Given the description of an element on the screen output the (x, y) to click on. 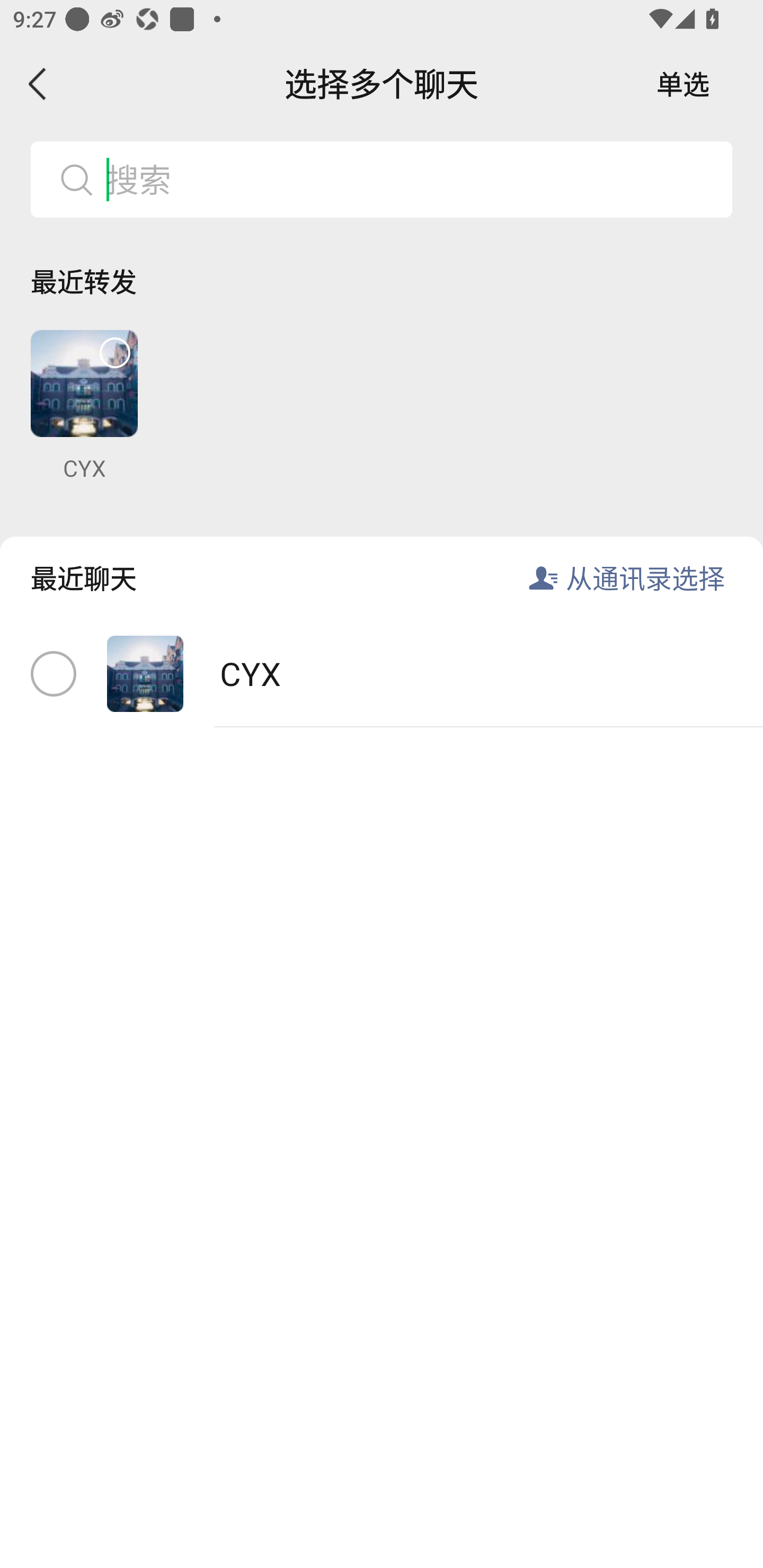
返回 (38, 83)
单选 (683, 83)
搜索 (411, 179)
CYX (84, 405)
从通讯录选择 (645, 577)
CYX (381, 673)
